Given the description of an element on the screen output the (x, y) to click on. 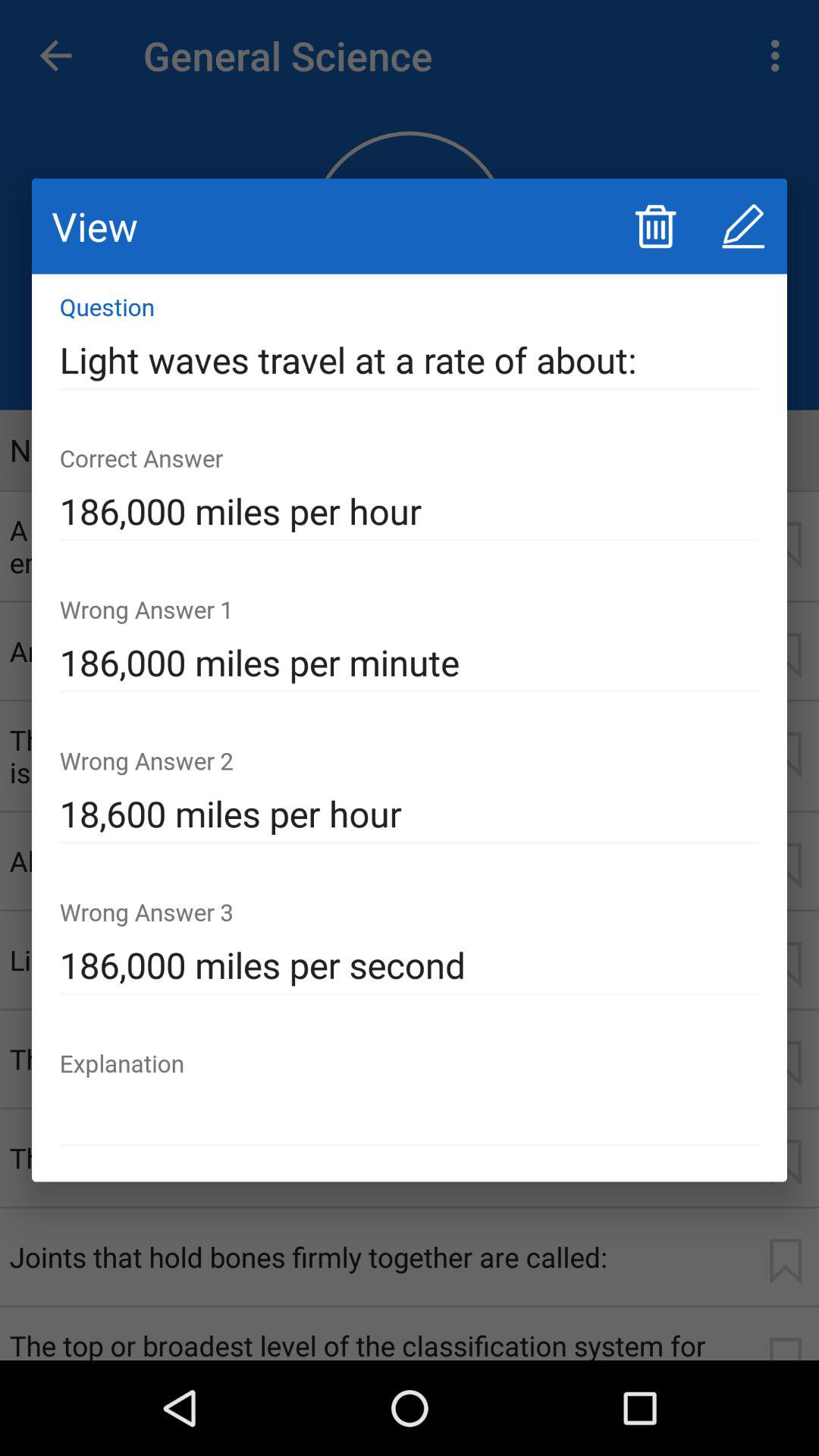
turn off the   item (409, 1116)
